Given the description of an element on the screen output the (x, y) to click on. 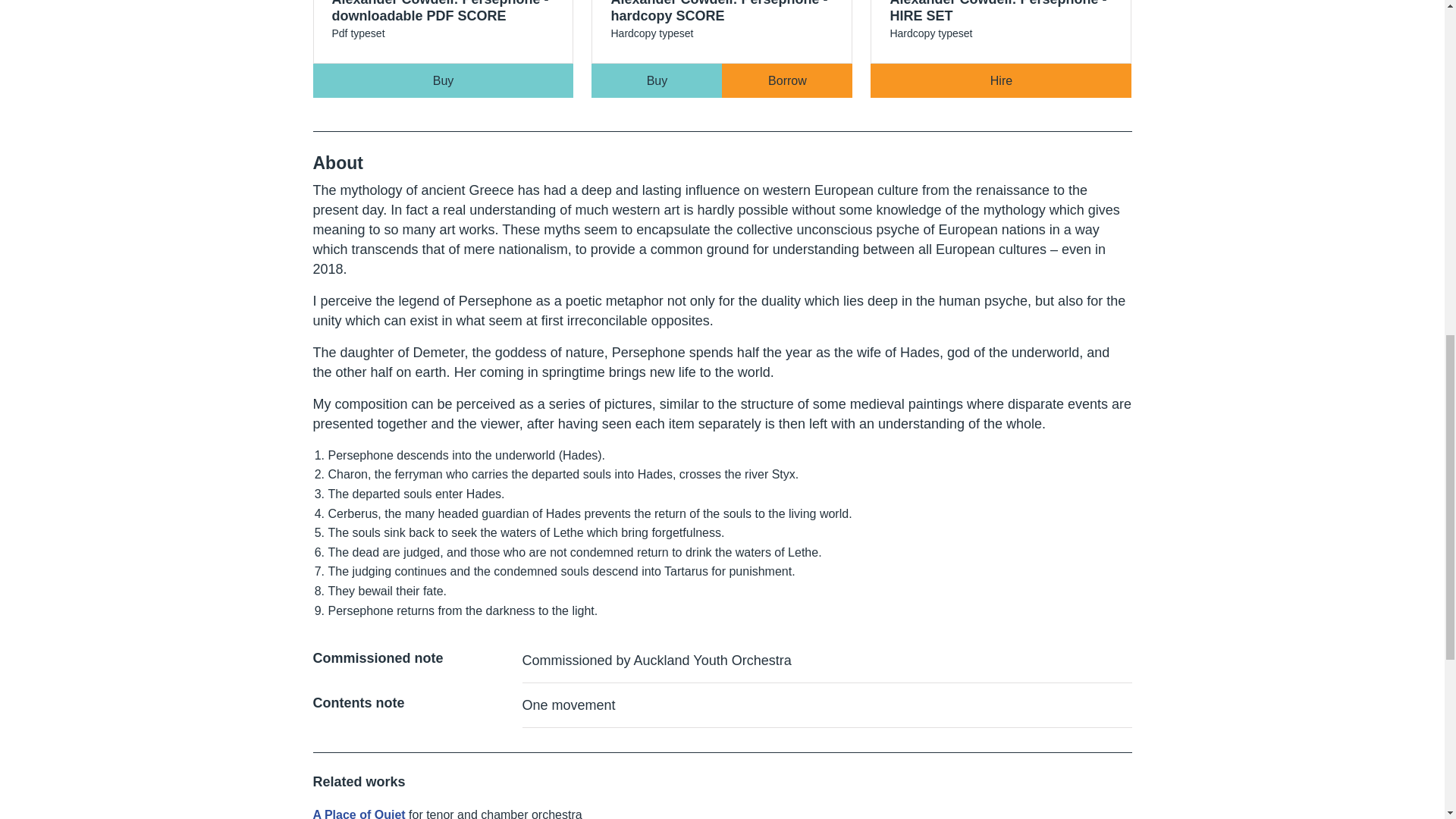
Hire (1000, 80)
Buy (443, 80)
Buy (656, 80)
A Place of Quiet (1000, 43)
Borrow (358, 813)
